Given the description of an element on the screen output the (x, y) to click on. 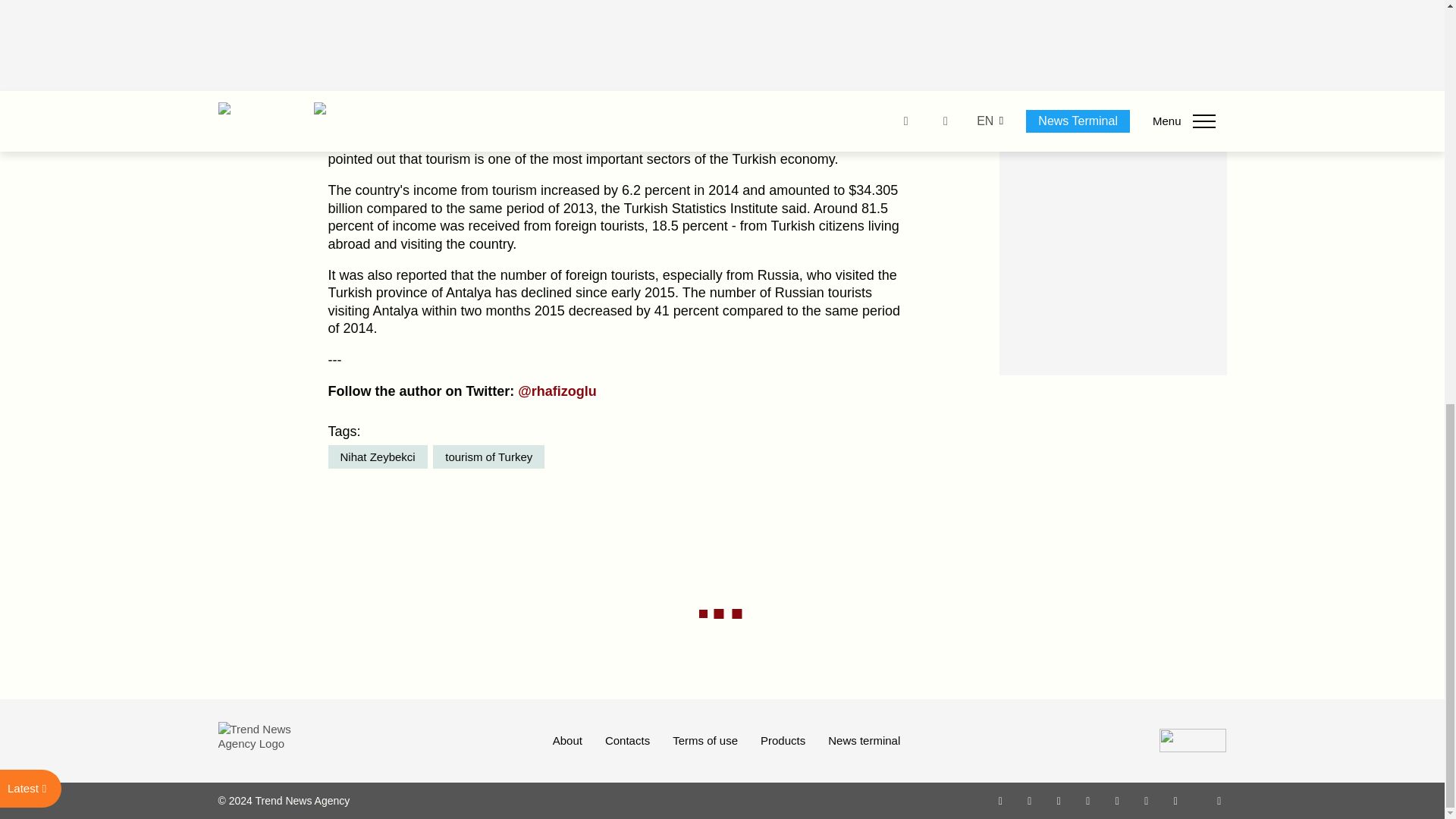
LinkedIn (1146, 800)
Android App (1176, 800)
Facebook (1029, 800)
Telegram (1117, 800)
Youtube (1088, 800)
Whatsapp (1000, 800)
RSS Feed (1219, 800)
Twitter (1059, 800)
